Given the description of an element on the screen output the (x, y) to click on. 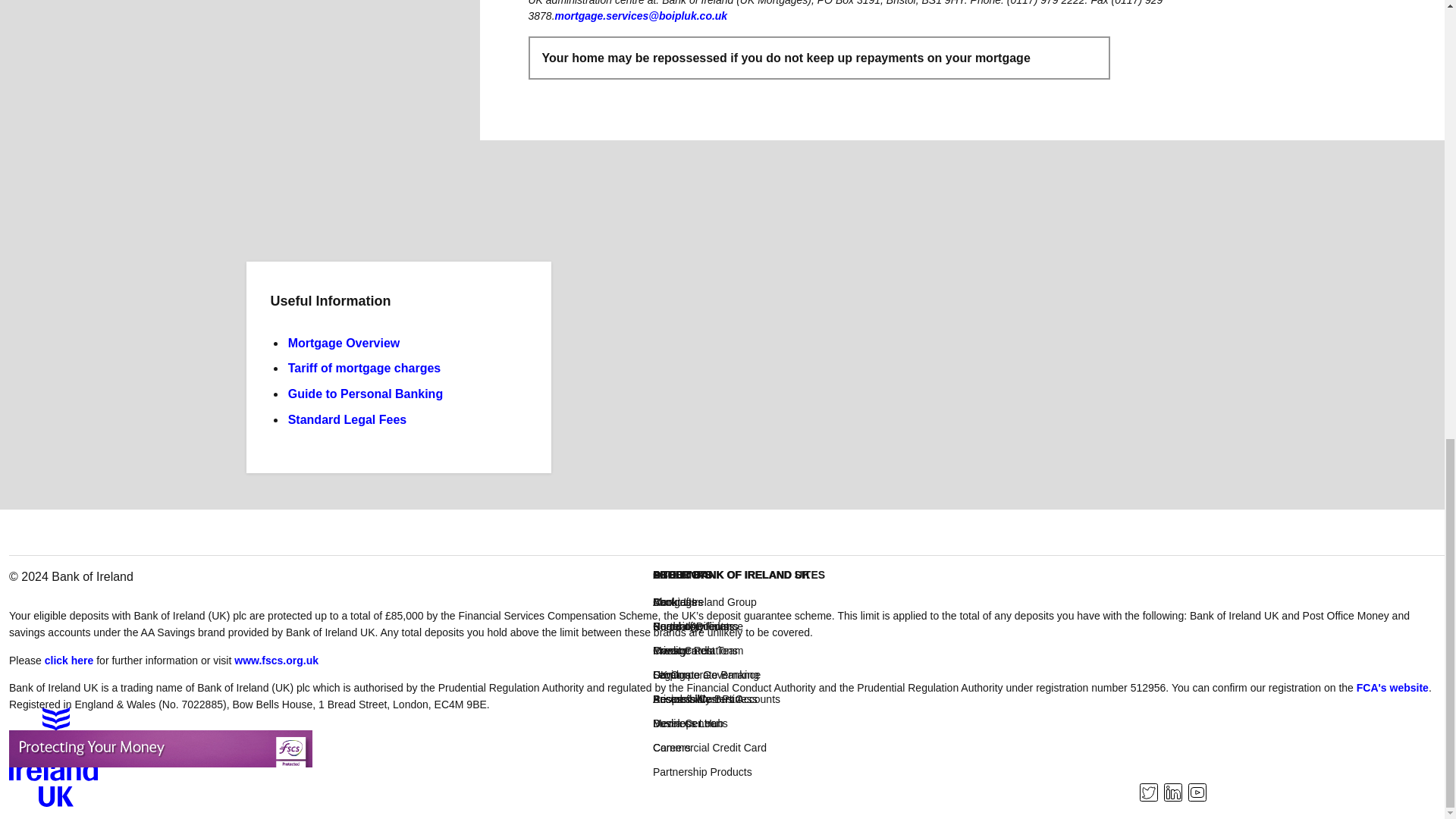
Find us on LinkedIn (1171, 793)
Find us on Twitter (1147, 793)
Find us on YouTube (1196, 793)
